Given the description of an element on the screen output the (x, y) to click on. 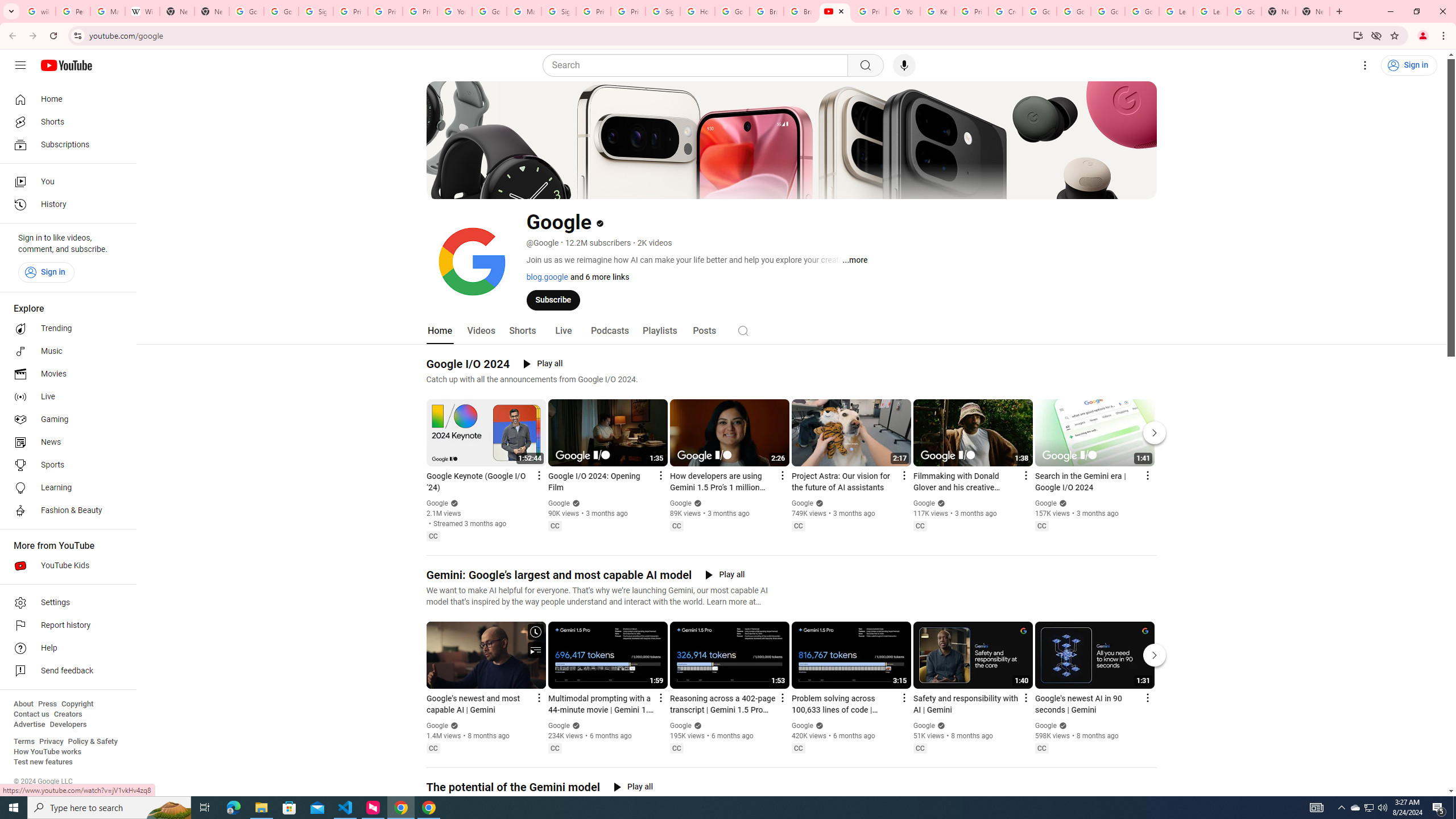
Manage your Location History - Google Search Help (107, 11)
Home (440, 330)
Home (64, 99)
Google Account Help (1107, 11)
Create your Google Account (1004, 11)
YouTube (454, 11)
Subscribe (552, 299)
